Given the description of an element on the screen output the (x, y) to click on. 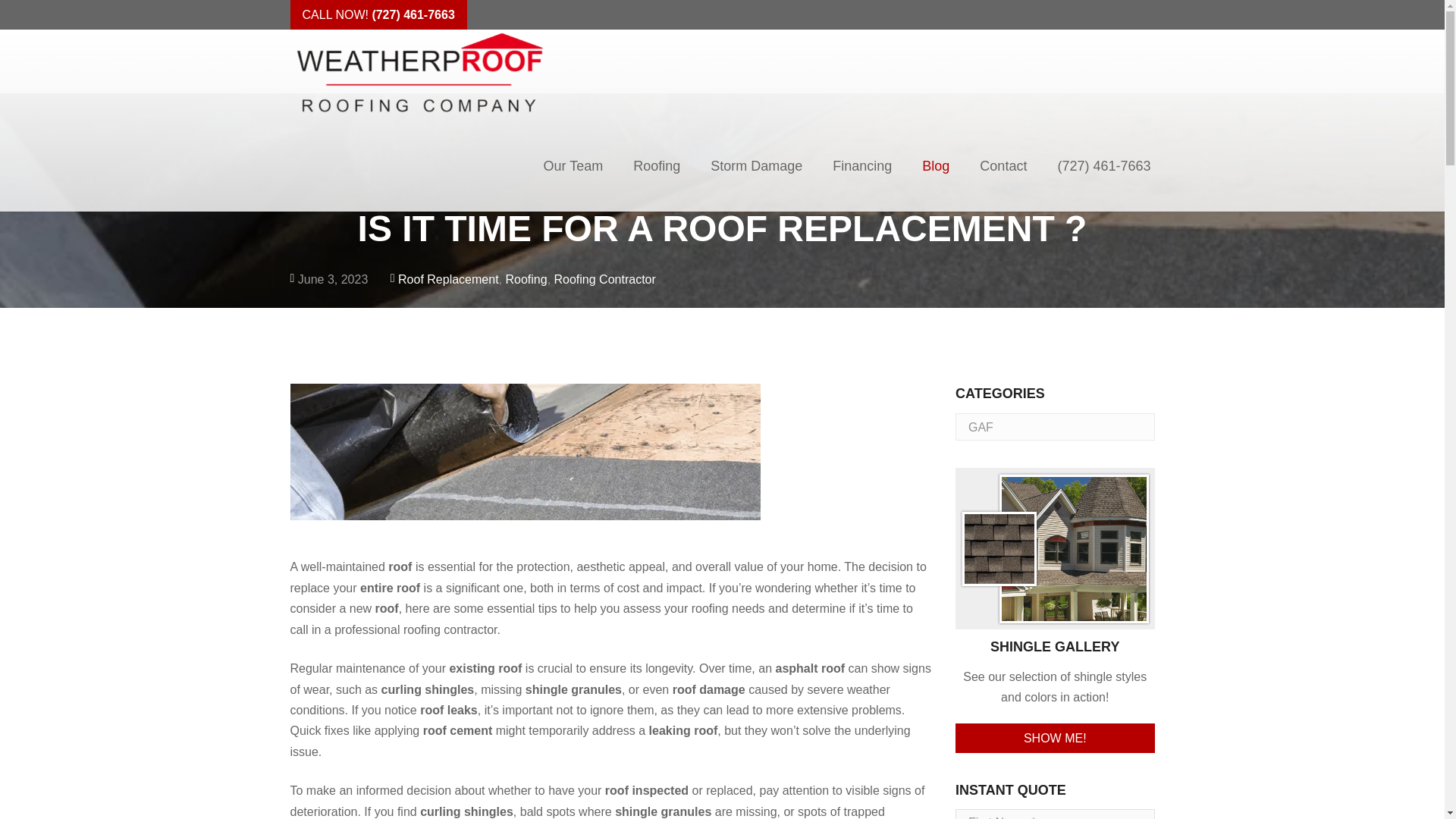
Storm Damage (755, 165)
Financing (861, 165)
Our Team (572, 165)
SHINGLE GALLERY (1054, 599)
SHOW ME! (1054, 737)
Roofing Contractor (605, 278)
Roofing (526, 278)
Roof Replacement (448, 278)
